Given the description of an element on the screen output the (x, y) to click on. 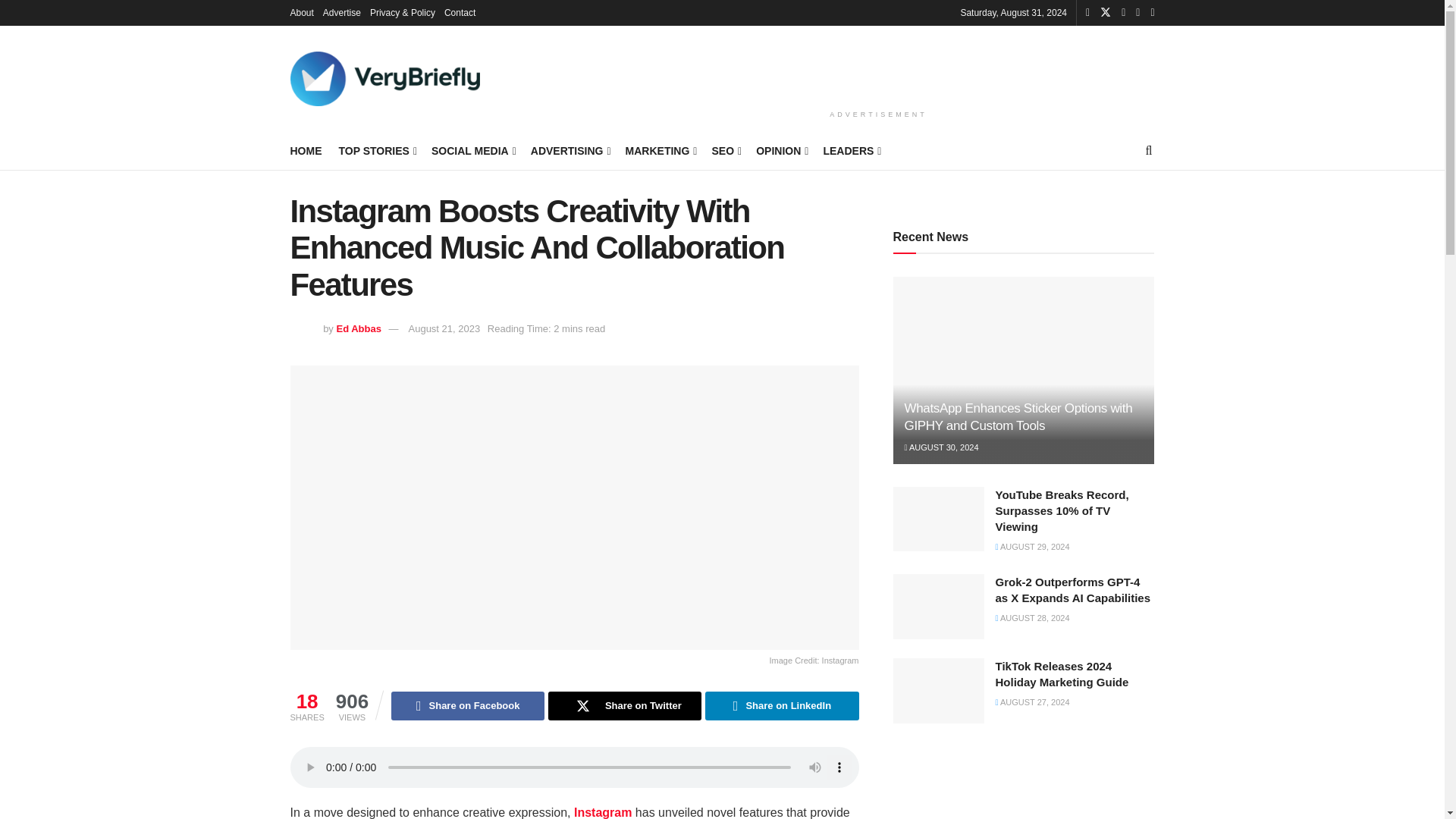
About (301, 12)
SOCIAL MEDIA (471, 150)
Contact (460, 12)
TOP STORIES (375, 150)
HOME (305, 150)
ADVERTISING (569, 150)
Advertise (342, 12)
